Given the description of an element on the screen output the (x, y) to click on. 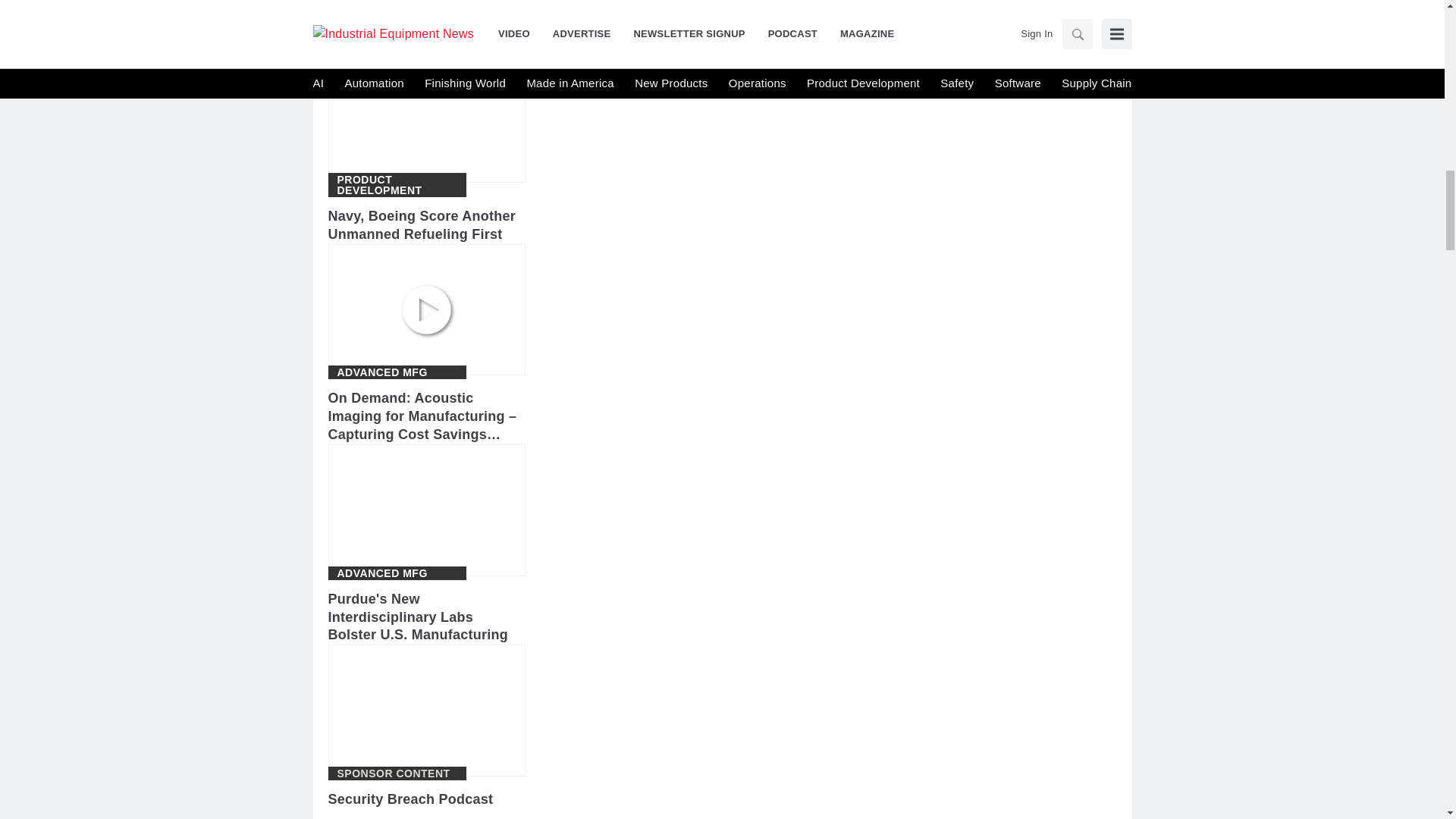
Advanced Mfg (381, 371)
Sponsor Content (392, 773)
Advanced Mfg (381, 573)
Product Development (396, 184)
